Given the description of an element on the screen output the (x, y) to click on. 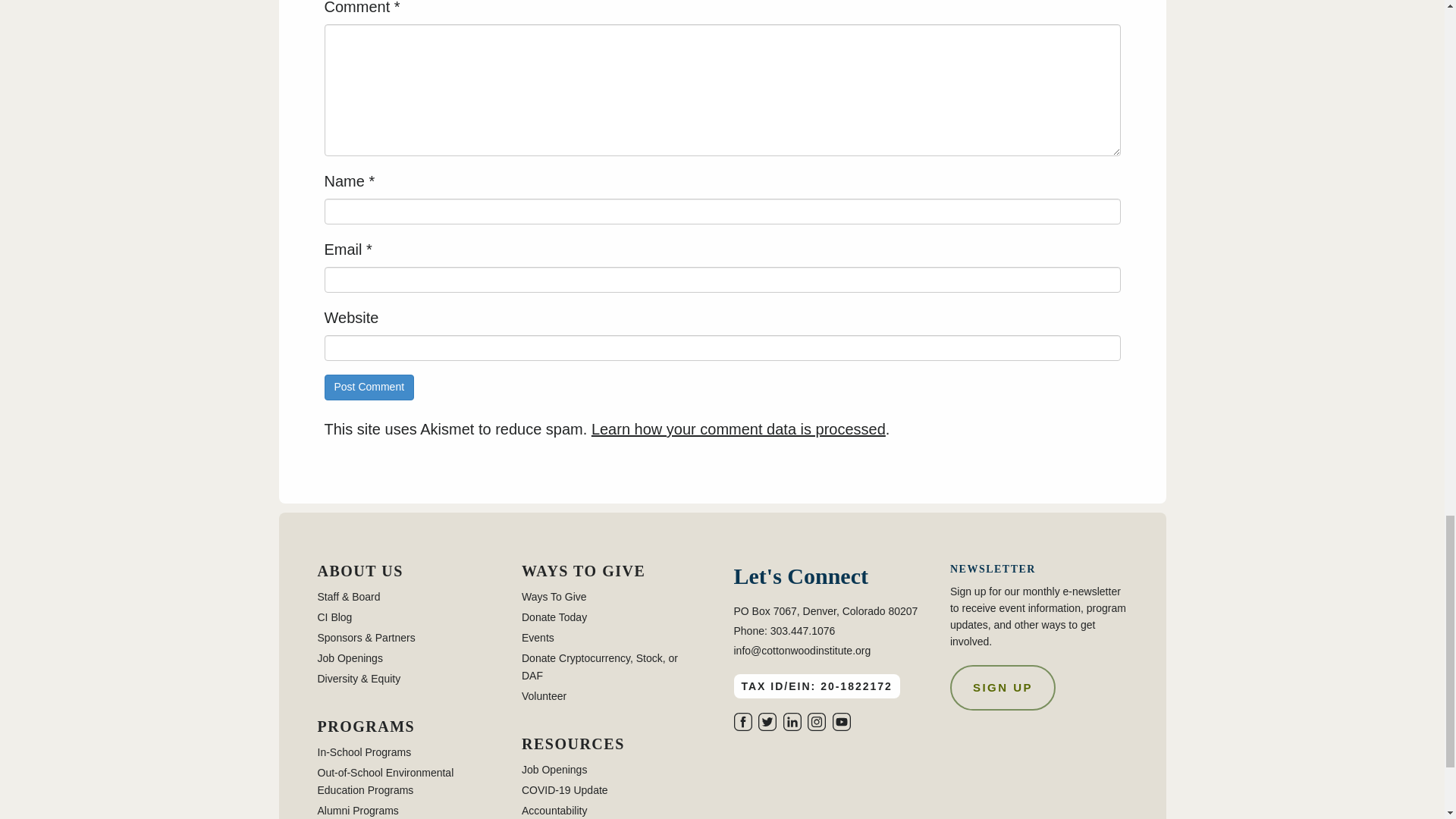
Post Comment (369, 387)
